Given the description of an element on the screen output the (x, y) to click on. 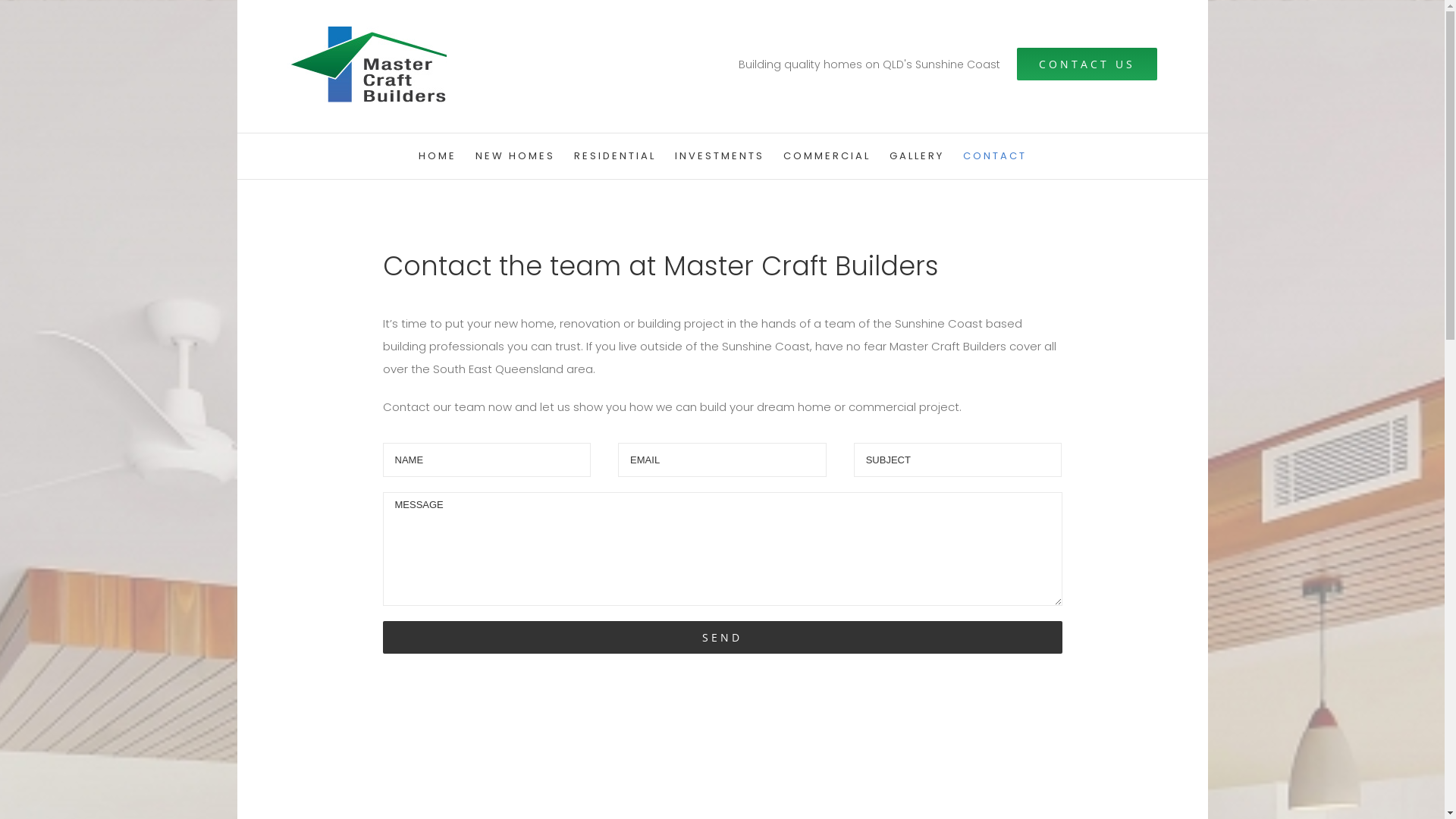
RESIDENTIAL Element type: text (614, 155)
CONTACT Element type: text (994, 155)
GALLERY Element type: text (915, 155)
Send Element type: text (721, 637)
INVESTMENTS Element type: text (719, 155)
CONTACT US Element type: text (1086, 63)
COMMERCIAL Element type: text (825, 155)
NEW HOMES Element type: text (514, 155)
HOME Element type: text (437, 155)
